Given the description of an element on the screen output the (x, y) to click on. 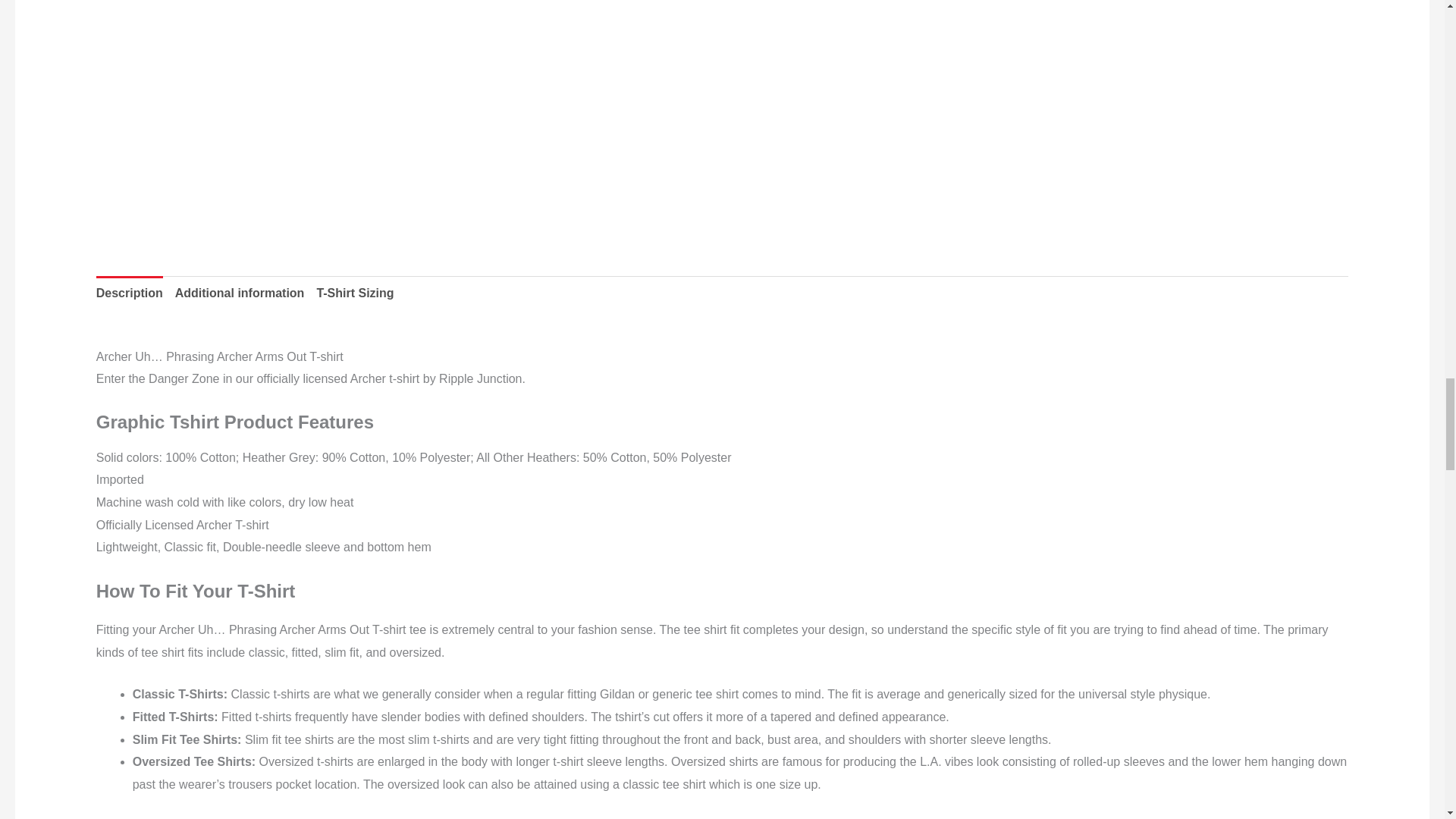
Additional information (239, 293)
T-Shirt Sizing (354, 293)
Description (129, 293)
